Given the description of an element on the screen output the (x, y) to click on. 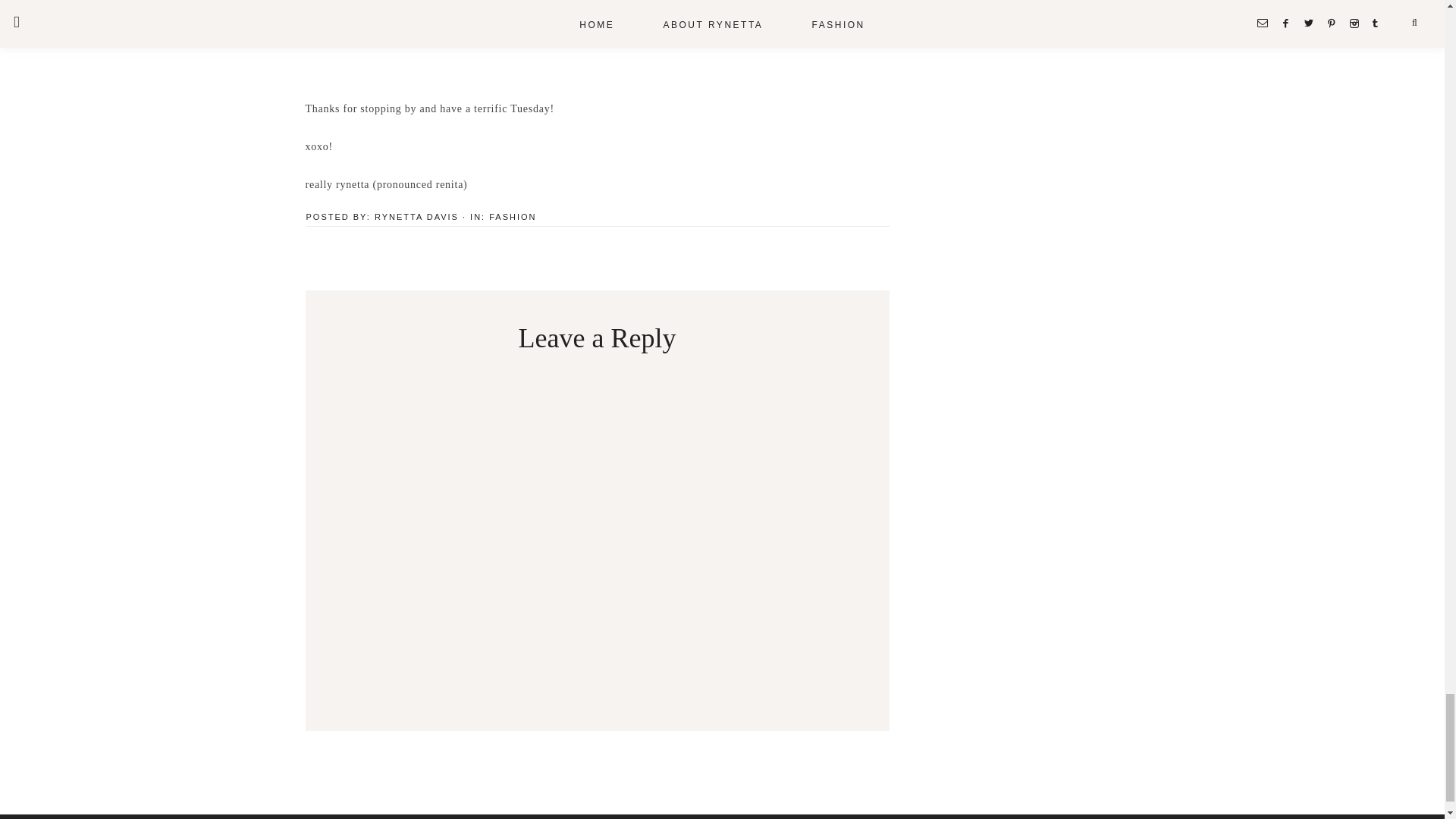
RYNETTA DAVIS (416, 216)
FASHION (512, 216)
